Given the description of an element on the screen output the (x, y) to click on. 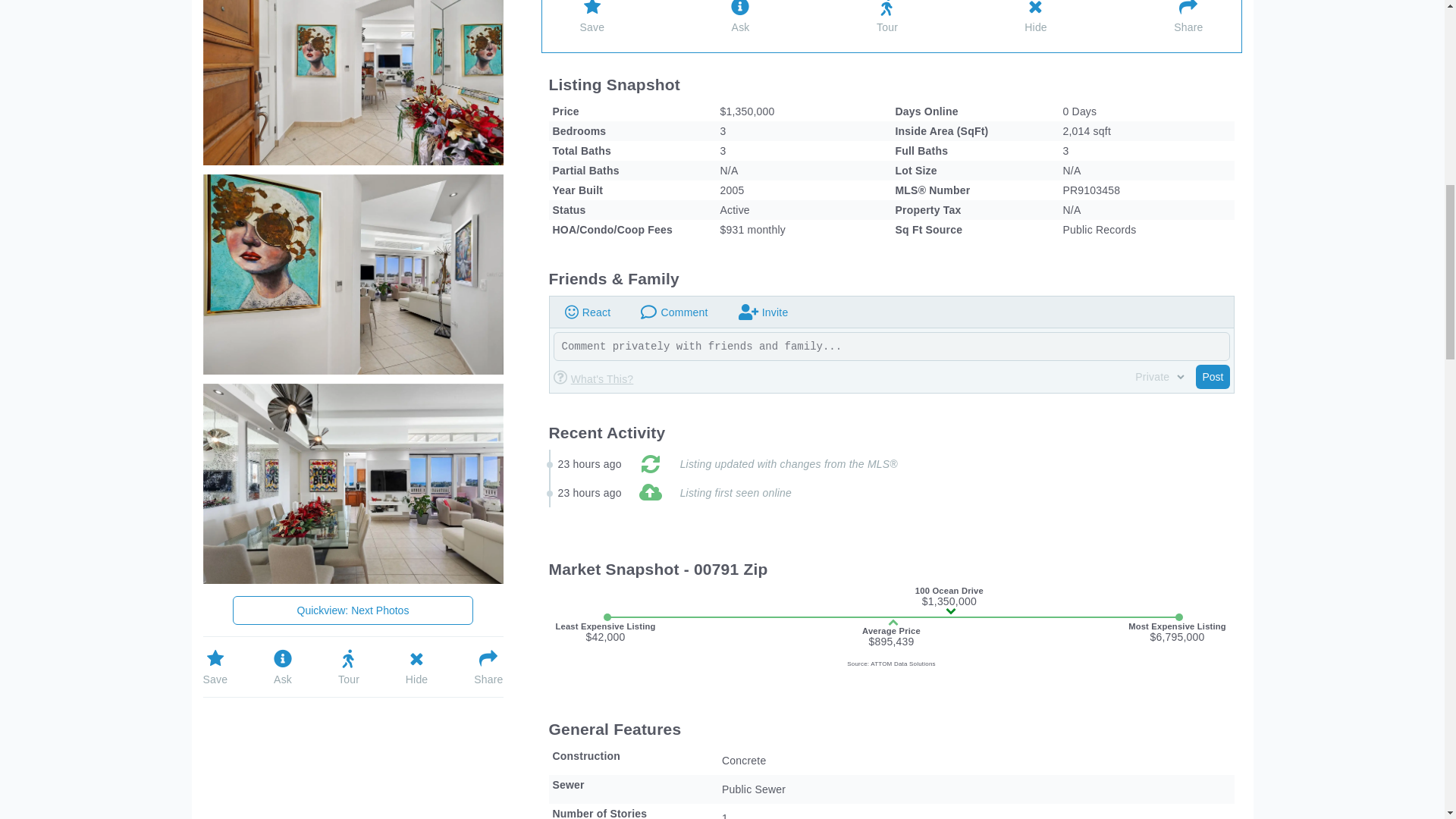
Quickview: Next Photos (352, 610)
Post (1211, 376)
